Given the description of an element on the screen output the (x, y) to click on. 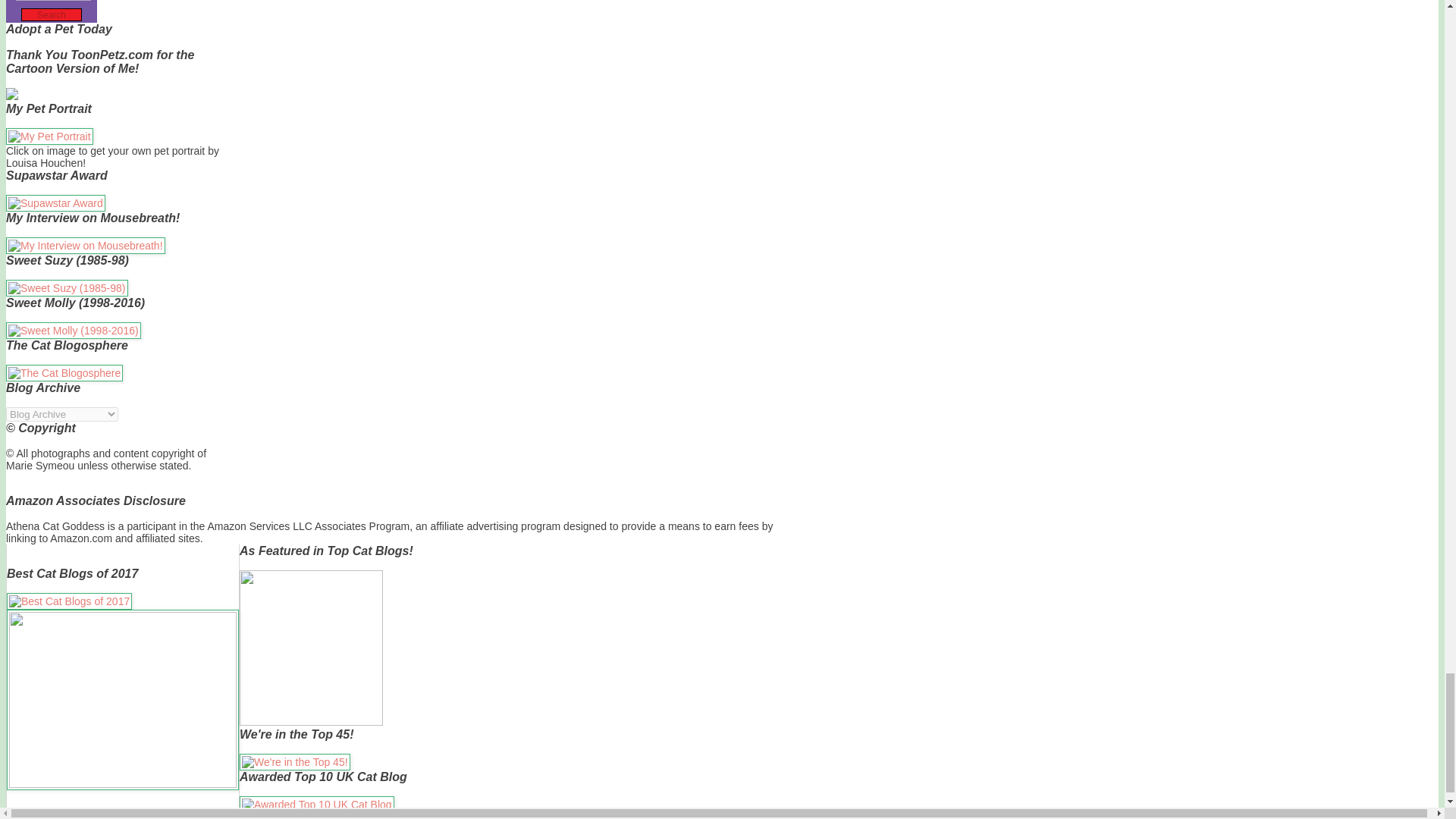
Search (51, 14)
